Given the description of an element on the screen output the (x, y) to click on. 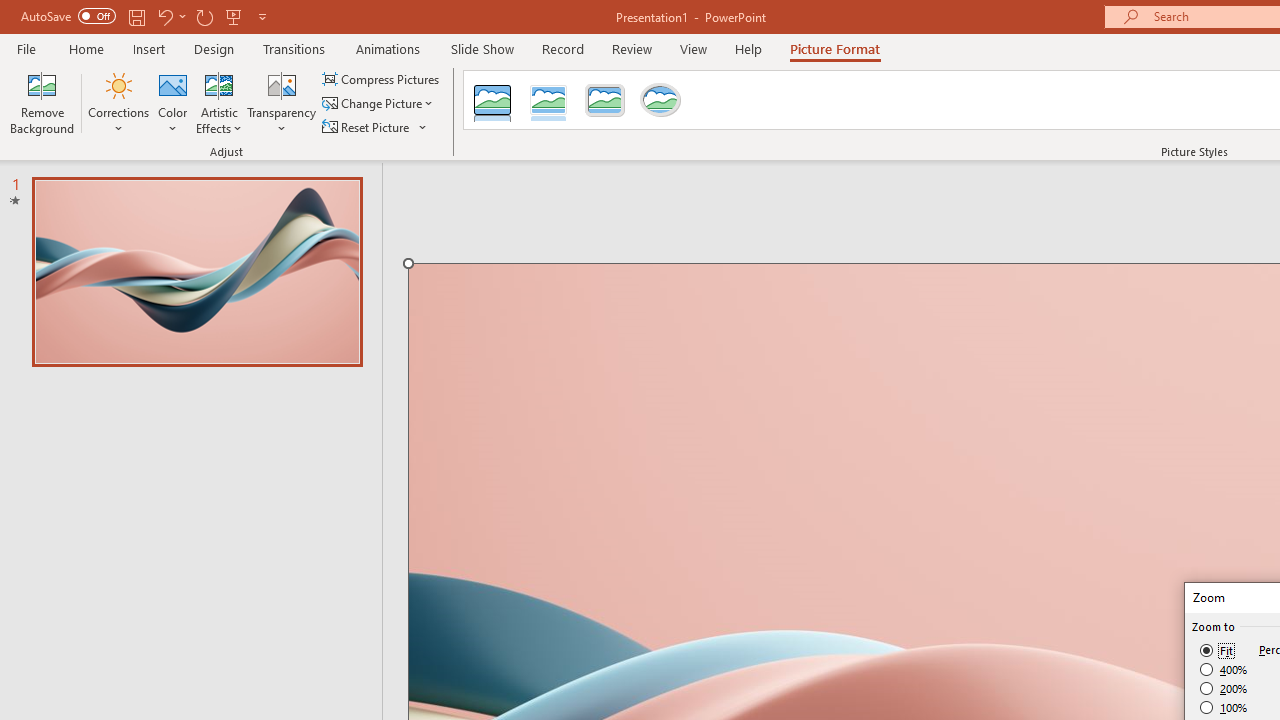
Corrections (118, 102)
Metal Oval (660, 100)
100% (1224, 707)
Reflected Bevel, White (548, 100)
Reset Picture (367, 126)
